Given the description of an element on the screen output the (x, y) to click on. 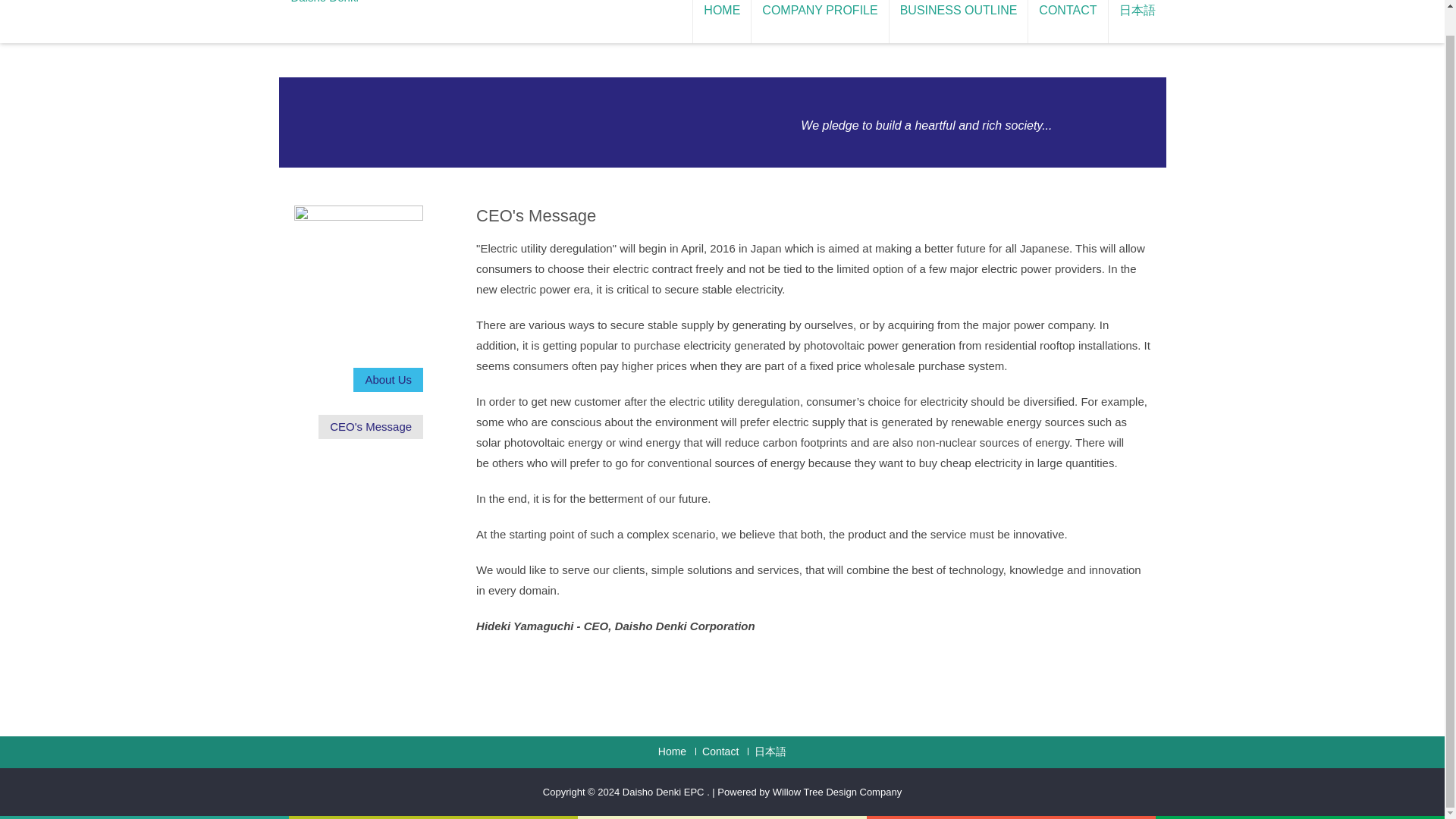
About Us (388, 379)
Daisho Denki EPC (664, 791)
BUSINESS OUTLINE (957, 21)
COMPANY PROFILE (819, 21)
HOME (722, 21)
AccessPress Themes (837, 791)
Home (671, 751)
CEO's Message (370, 426)
Willow Tree Design Company (837, 791)
CONTACT (1066, 21)
